Given the description of an element on the screen output the (x, y) to click on. 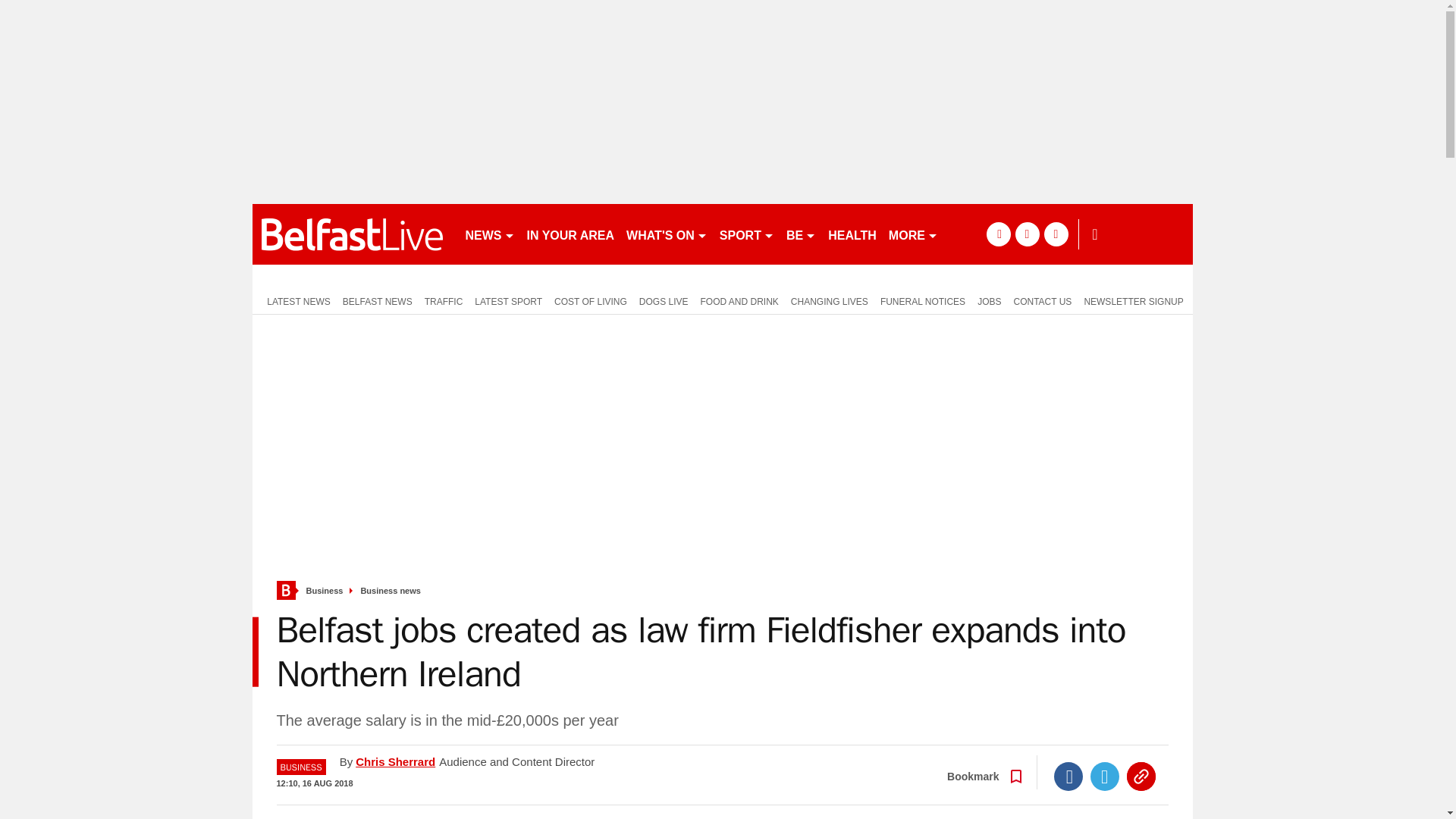
SPORT (746, 233)
WHAT'S ON (666, 233)
NEWS (490, 233)
Facebook (1068, 776)
belfastlive (351, 233)
instagram (1055, 233)
facebook (997, 233)
IN YOUR AREA (569, 233)
twitter (1026, 233)
Twitter (1104, 776)
